Given the description of an element on the screen output the (x, y) to click on. 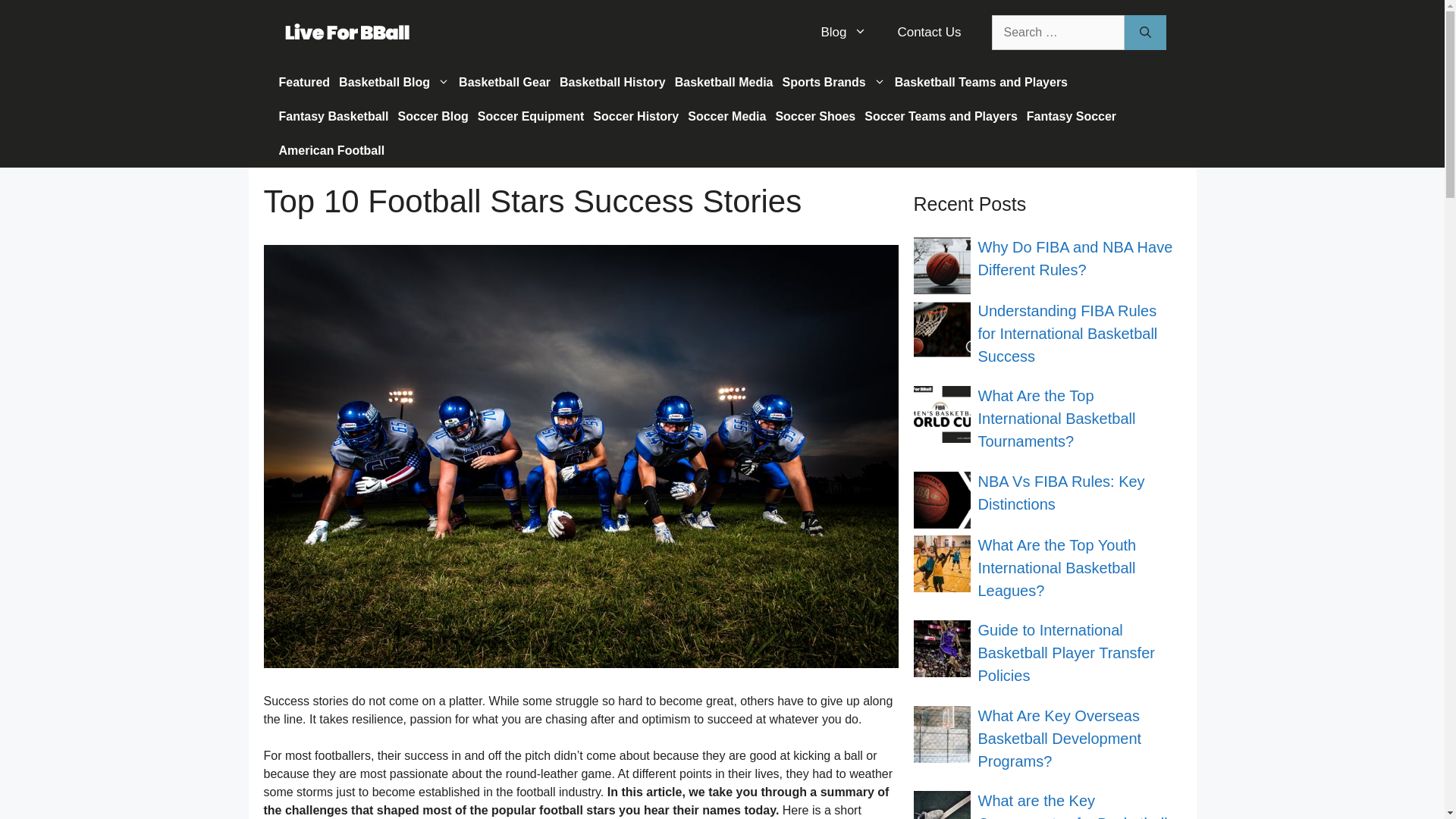
Soccer Blog (432, 116)
Search for: (1057, 32)
Basketball History (611, 82)
Basketball Gear (504, 82)
Sports Brands (833, 82)
Fantasy Basketball (334, 116)
Soccer Equipment (530, 116)
Basketball Blog (394, 82)
Contact Us (928, 32)
Featured (304, 82)
